Given the description of an element on the screen output the (x, y) to click on. 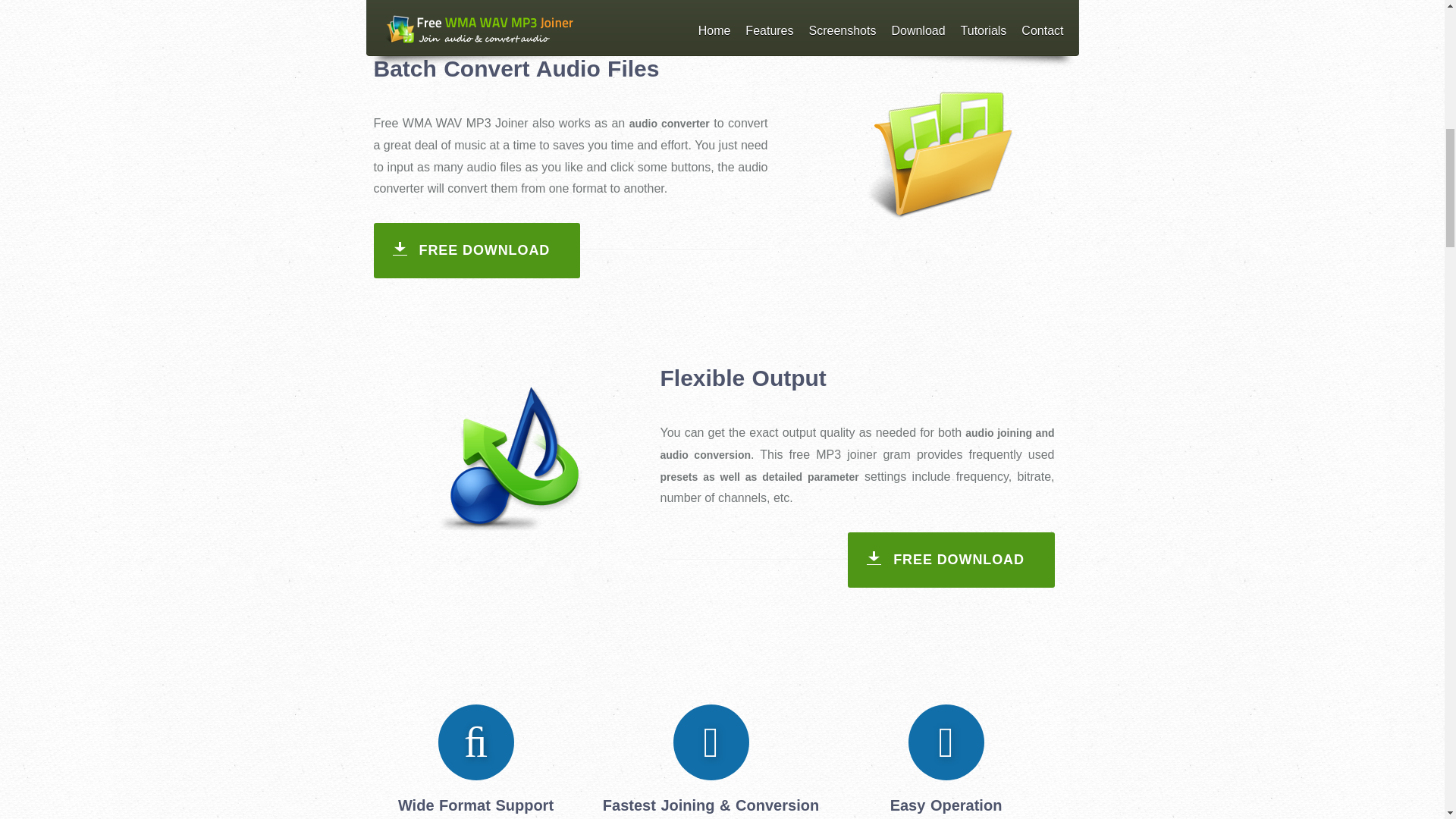
audio converter (669, 123)
FREE DOWNLOAD (475, 249)
FREE DOWNLOAD (950, 559)
presets as well as detailed parameter (759, 476)
audio joining and audio conversion (856, 443)
